Given the description of an element on the screen output the (x, y) to click on. 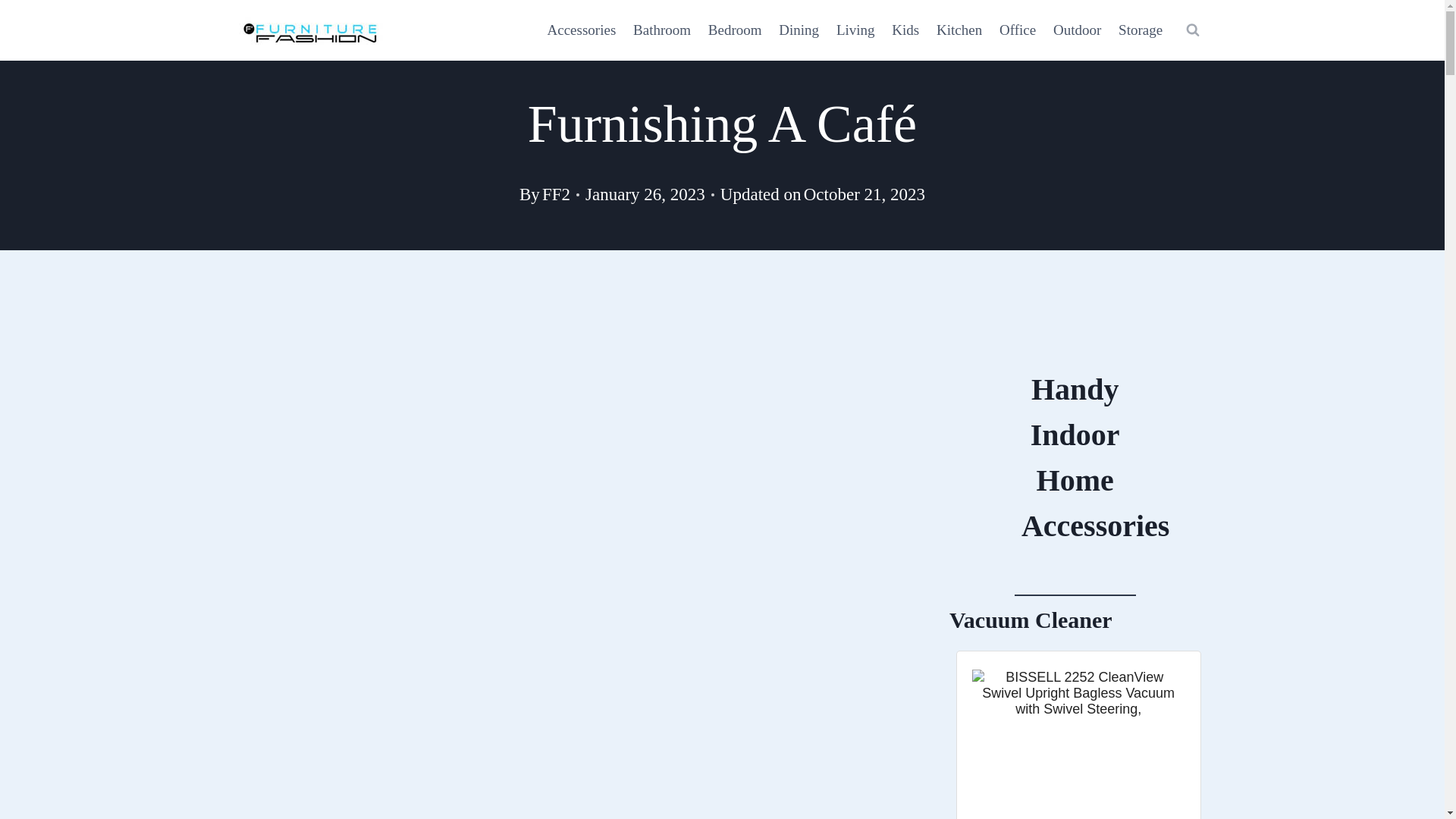
Office (1018, 29)
Bedroom (734, 29)
Outdoor (1077, 29)
Accessories (581, 29)
FF2 (555, 194)
Storage (1140, 29)
Living (855, 29)
Kitchen (959, 29)
Bathroom (662, 29)
Dining (799, 29)
Kids (905, 29)
